Given the description of an element on the screen output the (x, y) to click on. 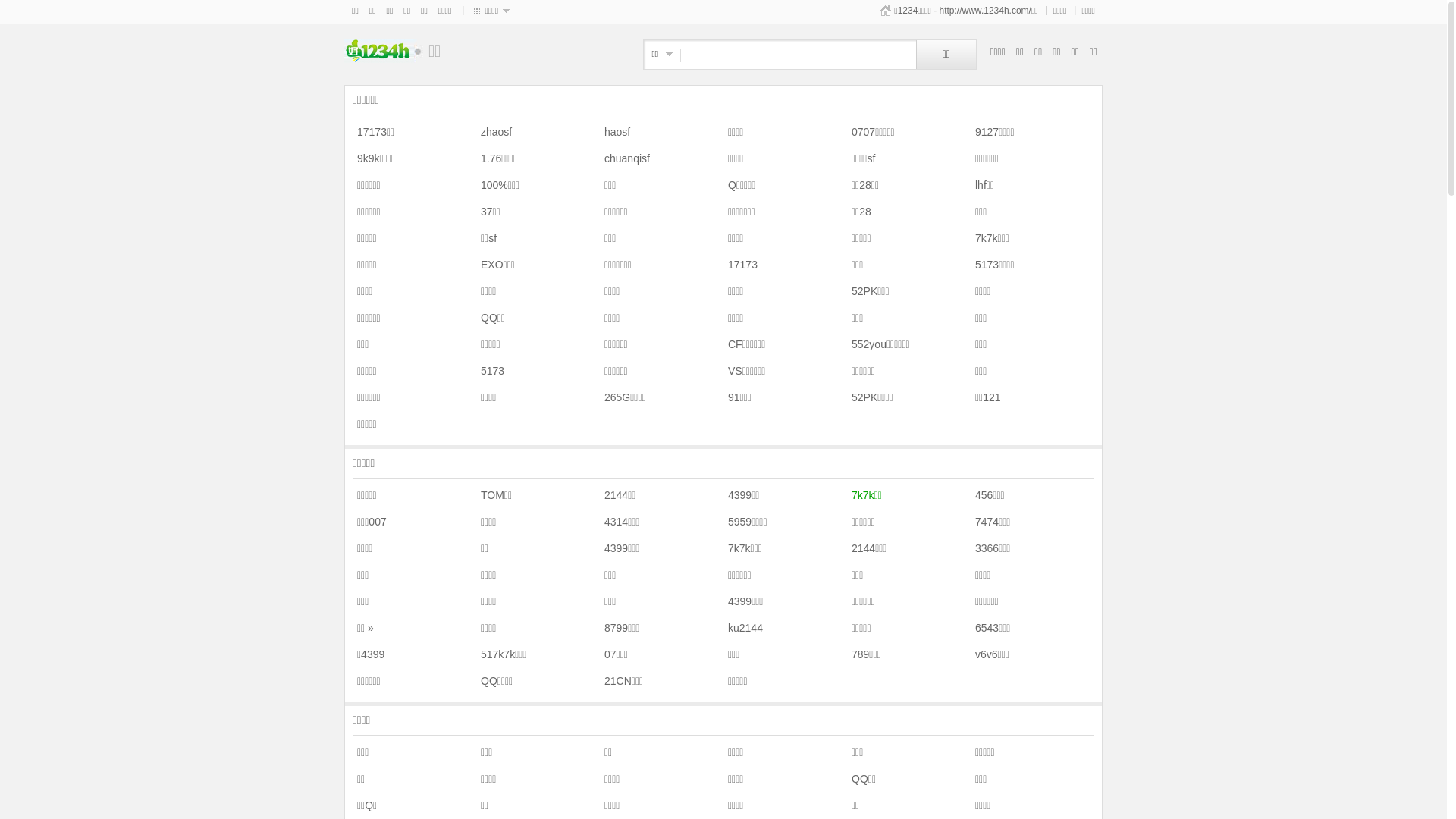
ku2144 Element type: text (742, 627)
haosf Element type: text (614, 131)
17173 Element type: text (740, 264)
5173 Element type: text (490, 370)
zhaosf Element type: text (493, 131)
chuanqisf Element type: text (624, 158)
